Given the description of an element on the screen output the (x, y) to click on. 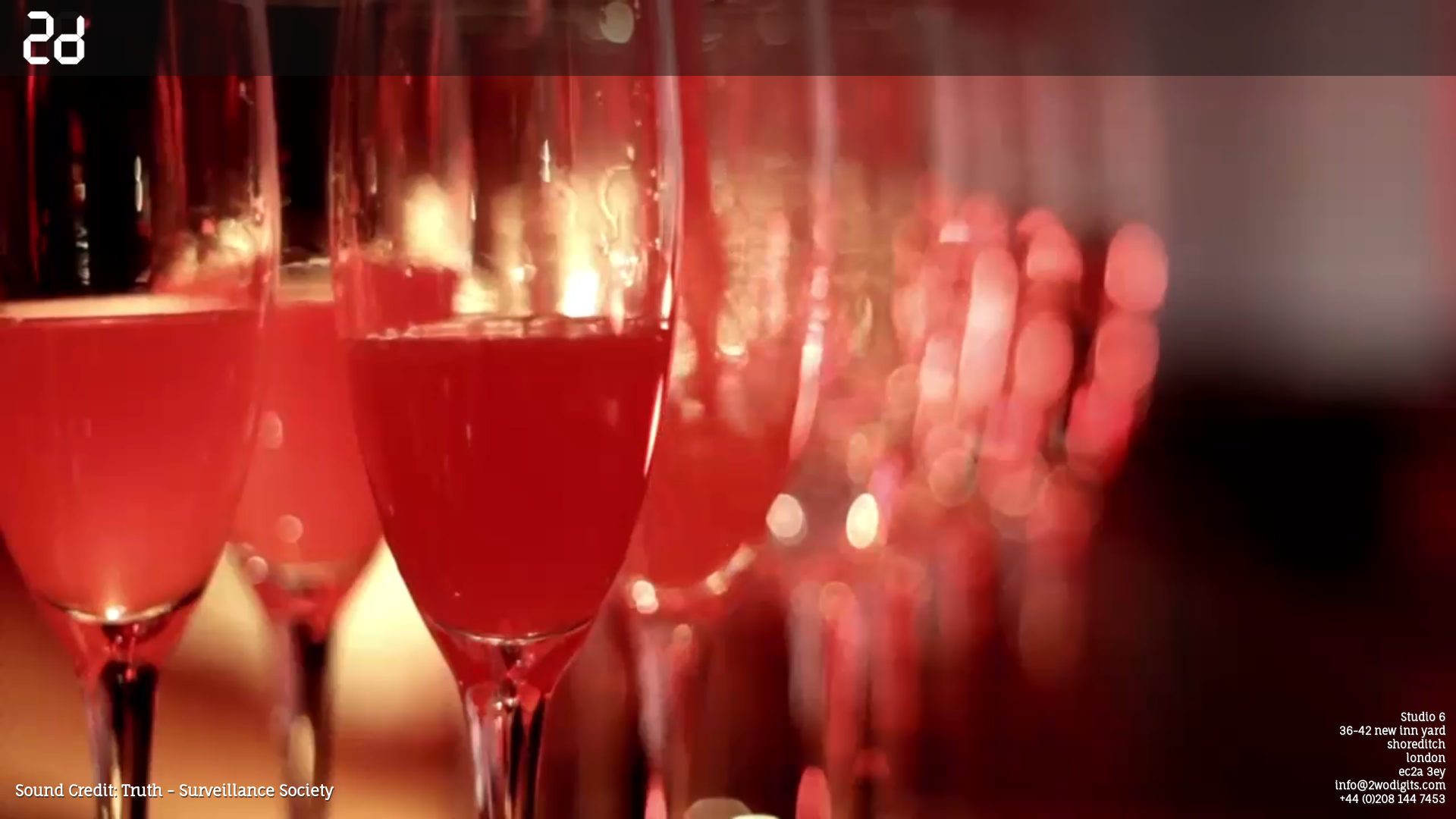
Sound Credit: Truth - Surveillance Society Element type: text (173, 790)
+44 (0)208 144 7453 Element type: text (1392, 798)
info@2wodigits.com Element type: text (1389, 784)
